Given the description of an element on the screen output the (x, y) to click on. 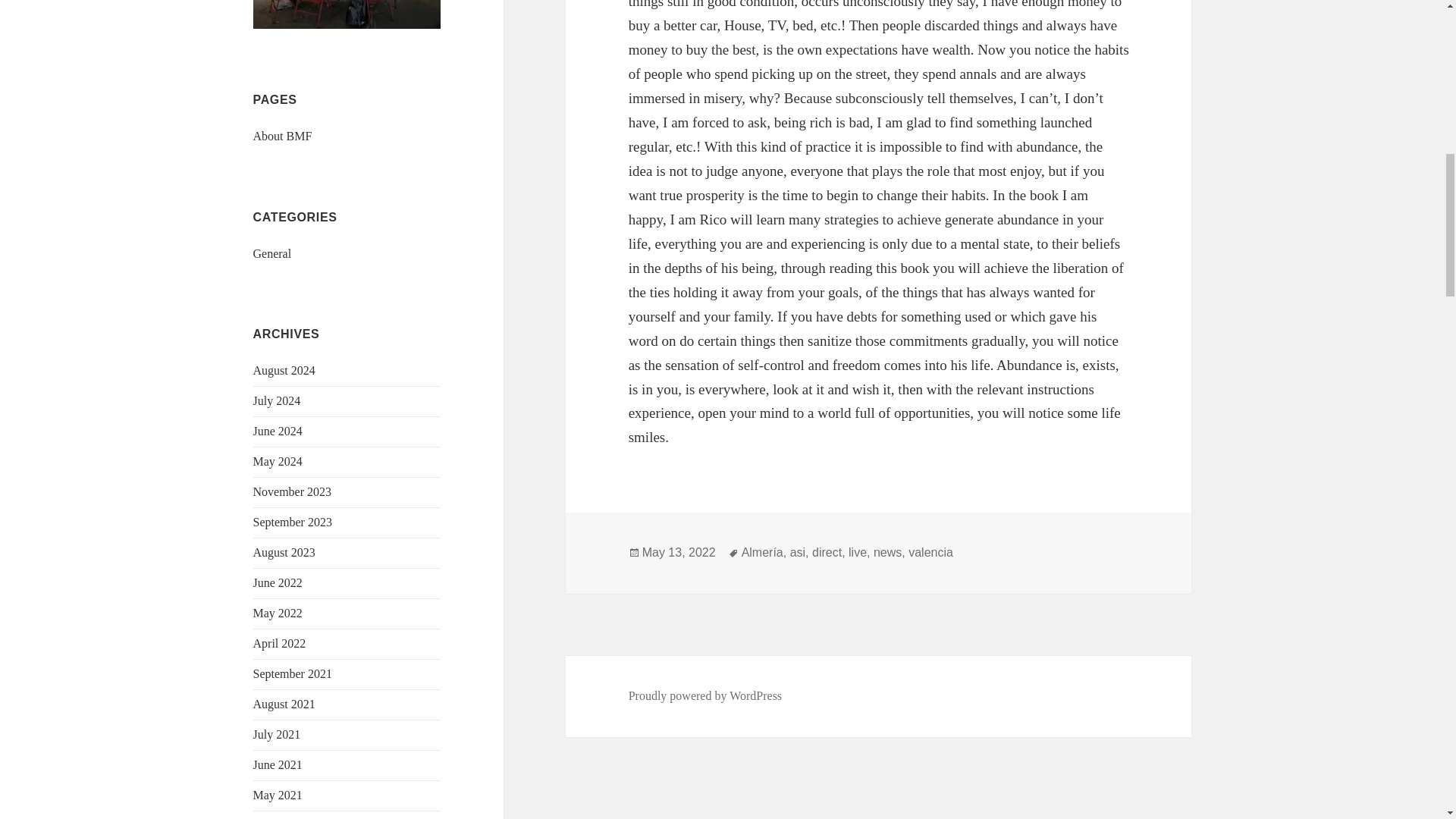
July 2021 (277, 734)
June 2024 (277, 431)
June 2022 (277, 582)
November 2023 (292, 491)
September 2021 (292, 673)
May 2021 (277, 794)
About BMF (283, 135)
August 2024 (284, 369)
July 2024 (277, 400)
September 2023 (292, 521)
